Given the description of an element on the screen output the (x, y) to click on. 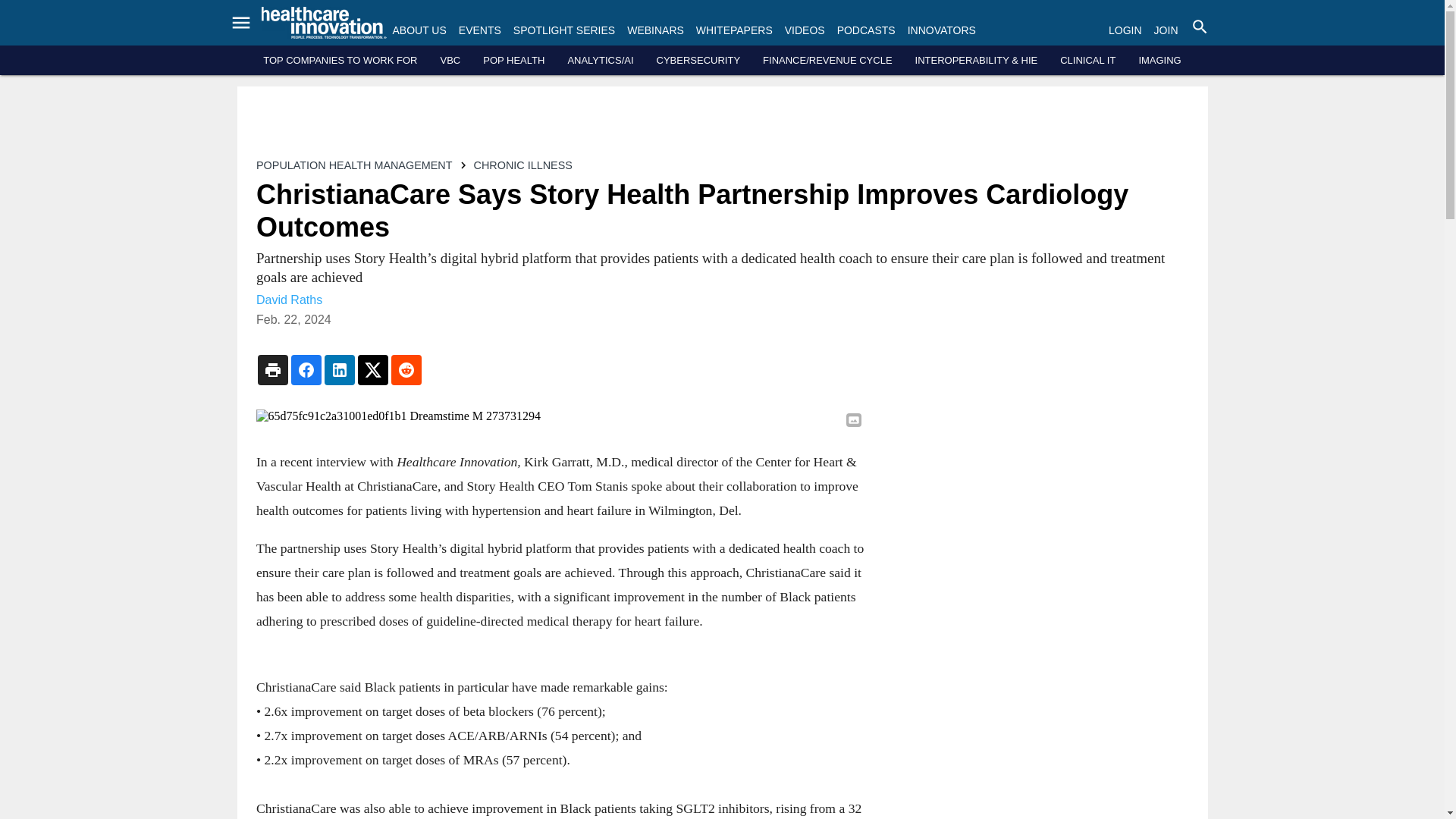
INNOVATORS (941, 30)
TOP COMPANIES TO WORK FOR (339, 60)
EVENTS (479, 30)
VBC (449, 60)
VIDEOS (804, 30)
WEBINARS (655, 30)
POP HEALTH (513, 60)
65d75fc91c2a31001ed0f1b1 Dreamstime M 273731294 (560, 416)
JOIN (1165, 30)
IMAGING (1159, 60)
